Given the description of an element on the screen output the (x, y) to click on. 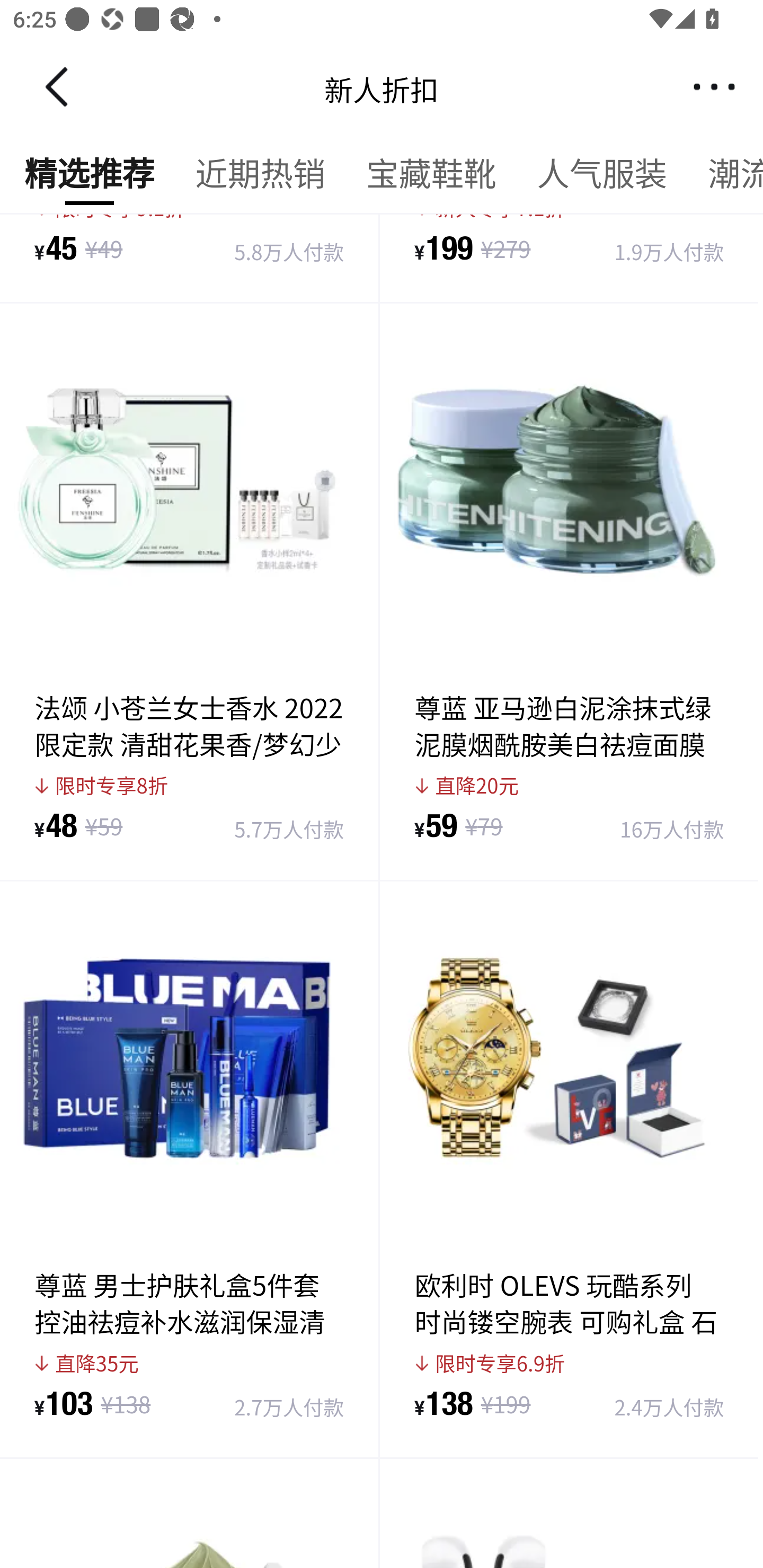
resize,w_300 (189, 1404)
resize,w_300 (569, 1404)
